Given the description of an element on the screen output the (x, y) to click on. 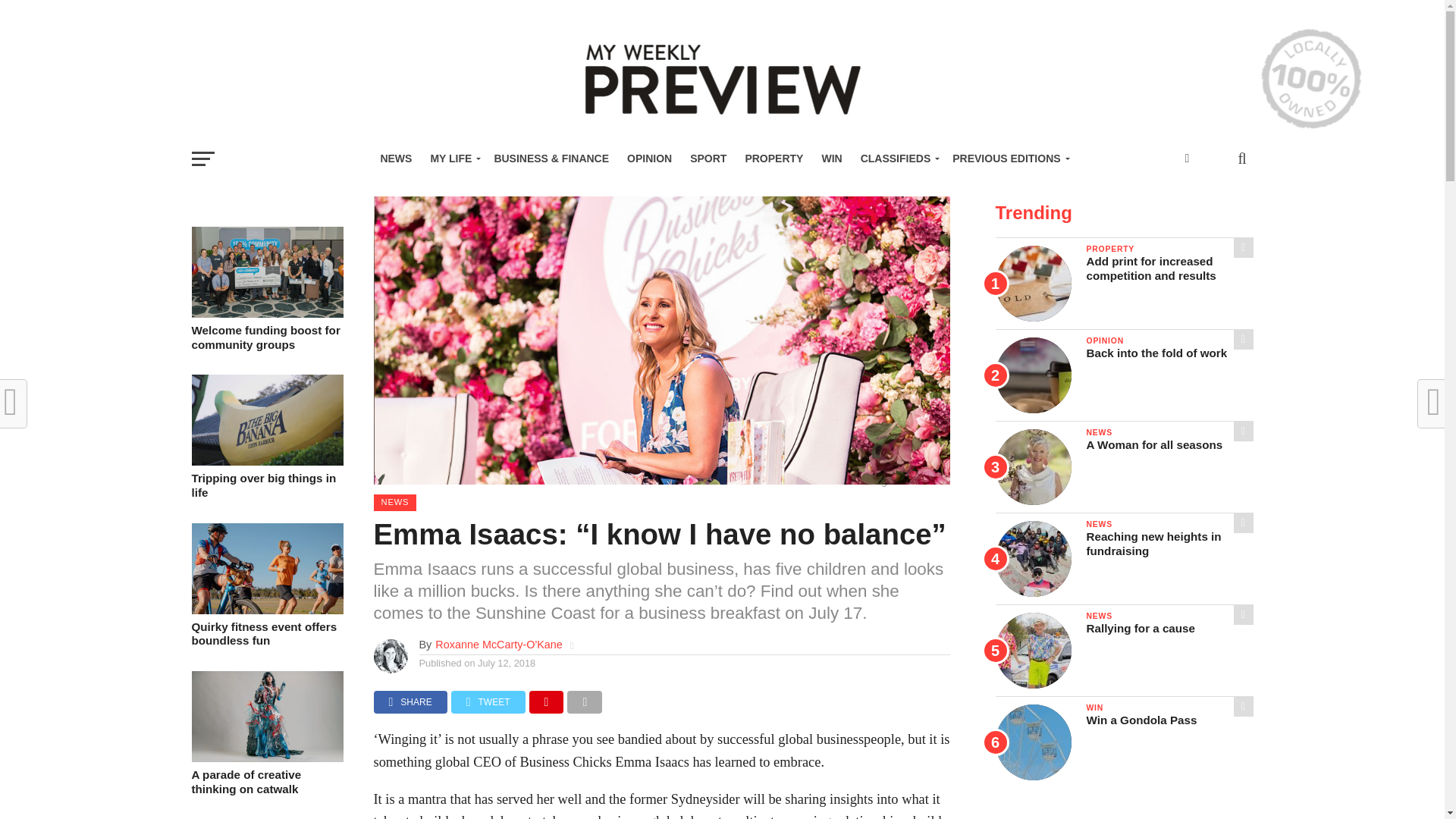
Welcome funding boost for community groups (266, 313)
MY LIFE (452, 157)
Quirky fitness event offers boundless fun (266, 609)
A parade of creative thinking on catwalk (266, 757)
WIN (831, 157)
CLASSIFIEDS (897, 157)
NEWS (395, 157)
PREVIOUS EDITIONS (1008, 157)
Tripping over big things in life (266, 461)
Posts by Roxanne McCarty-O'Kane (498, 644)
SPORT (708, 157)
PROPERTY (773, 157)
OPINION (649, 157)
